Given the description of an element on the screen output the (x, y) to click on. 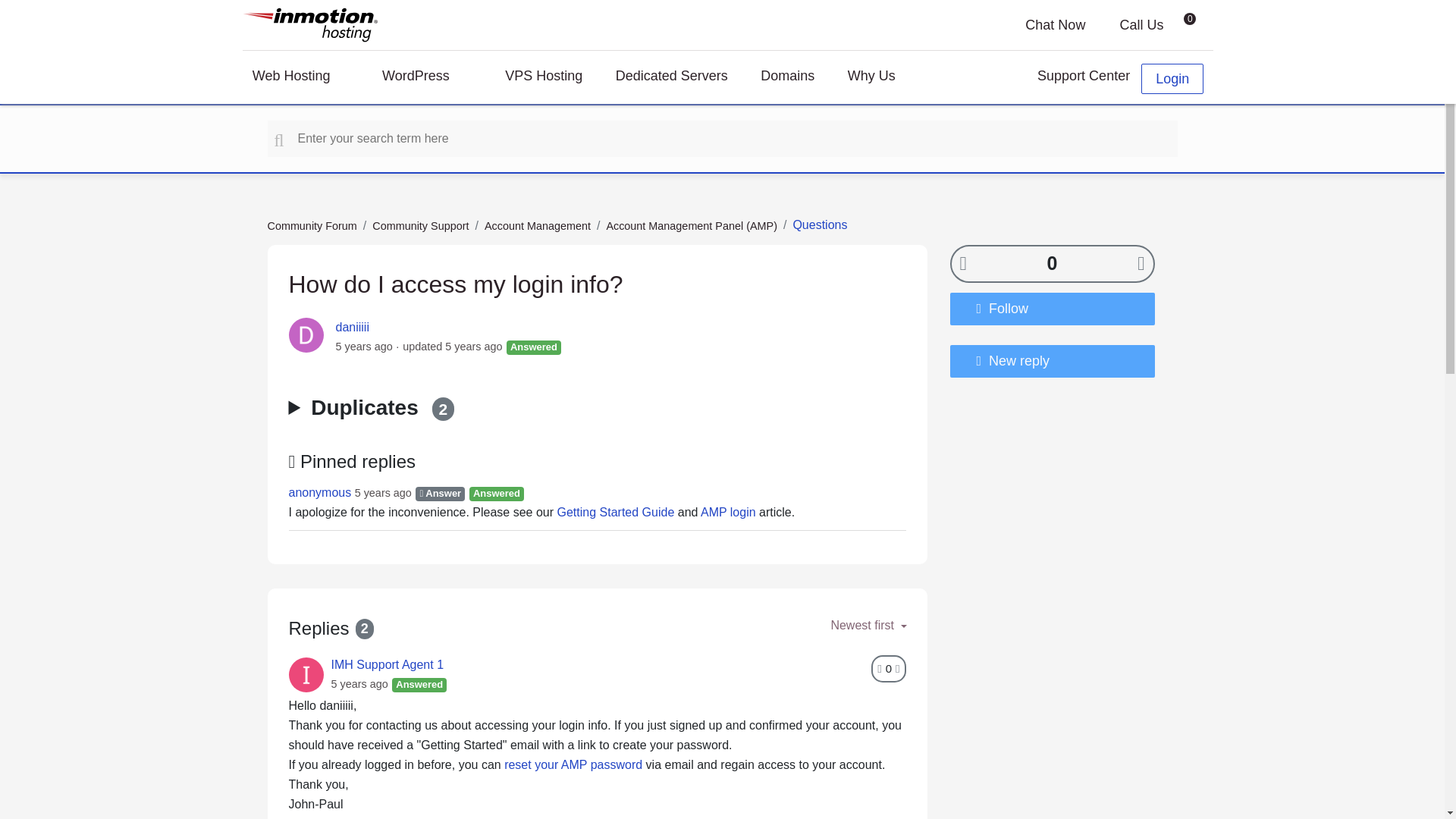
Login (1172, 78)
Dedicated Servers (671, 78)
VPS Hosting (543, 78)
Why Us (882, 78)
WordPress (426, 78)
Call Us (1129, 24)
WordPress (426, 78)
Domains (786, 78)
Web Hosting (300, 78)
Domains (786, 78)
